Given the description of an element on the screen output the (x, y) to click on. 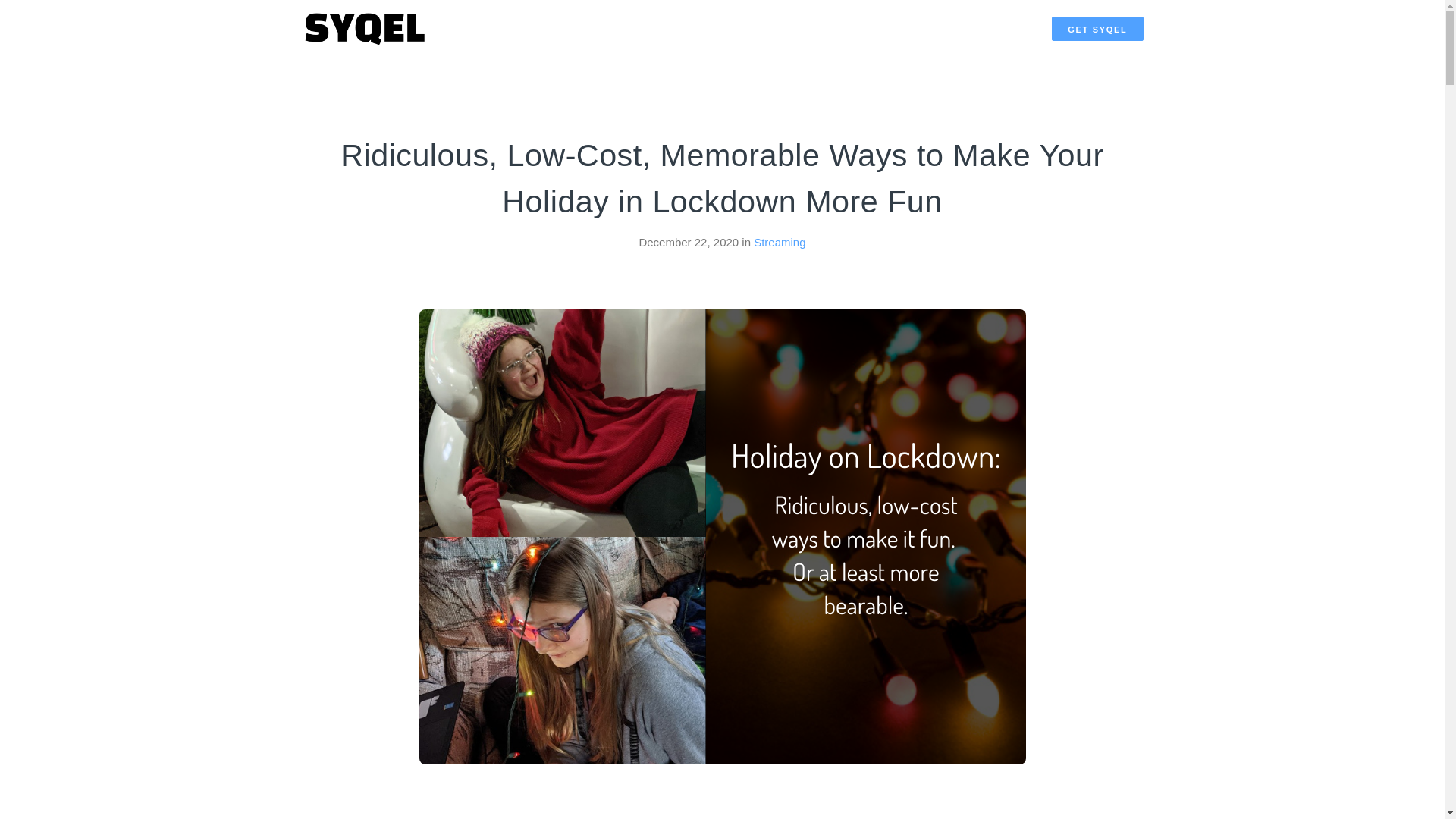
GET SYQEL (1096, 28)
Streaming (779, 241)
